Given the description of an element on the screen output the (x, y) to click on. 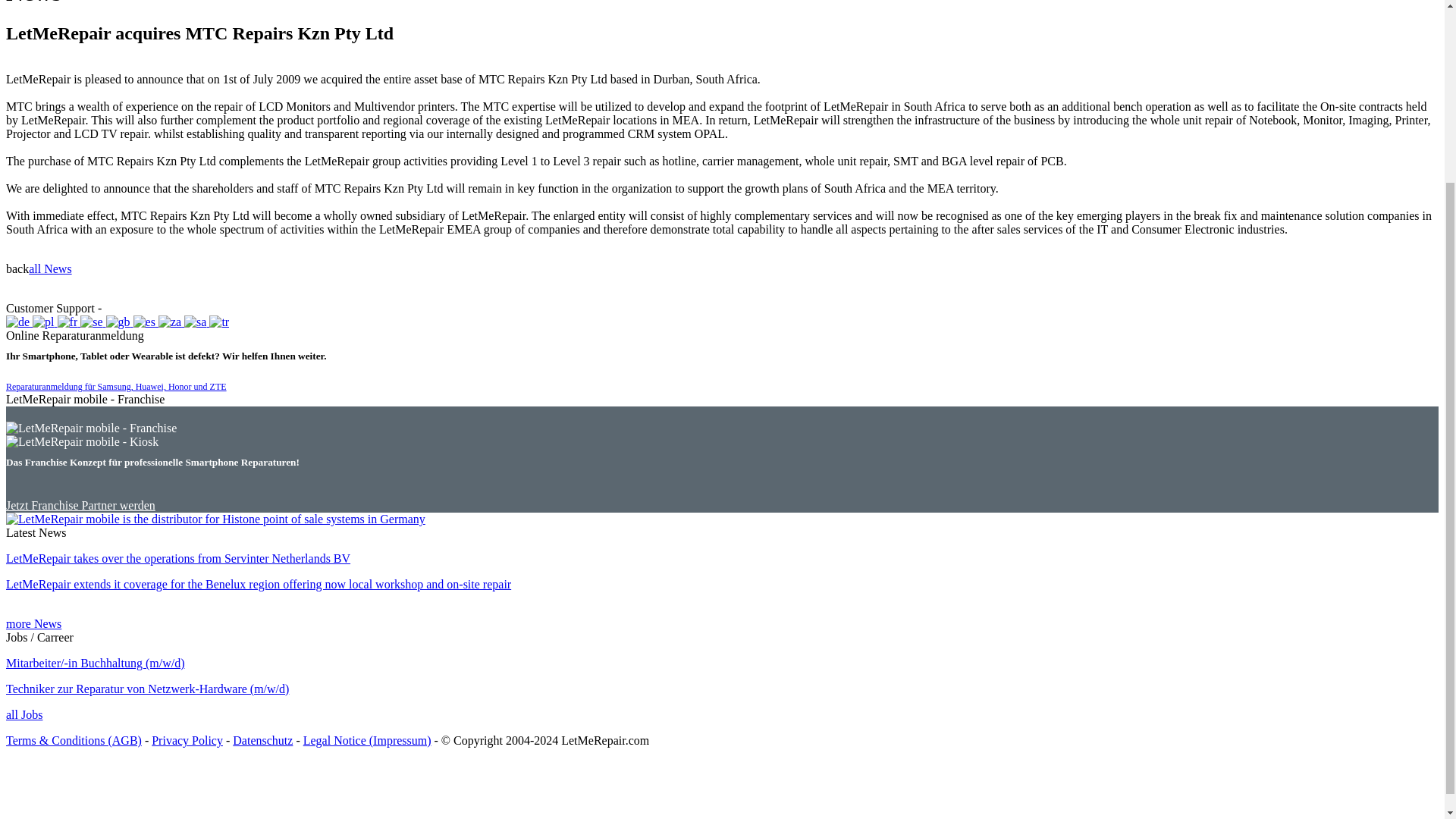
all News (50, 268)
back (17, 268)
Jetzt Franchise Partner werden (80, 504)
online repair status (150, 308)
more News (33, 623)
Privacy Policy (186, 739)
Datenschutz (262, 739)
all Jobs (23, 714)
